Given the description of an element on the screen output the (x, y) to click on. 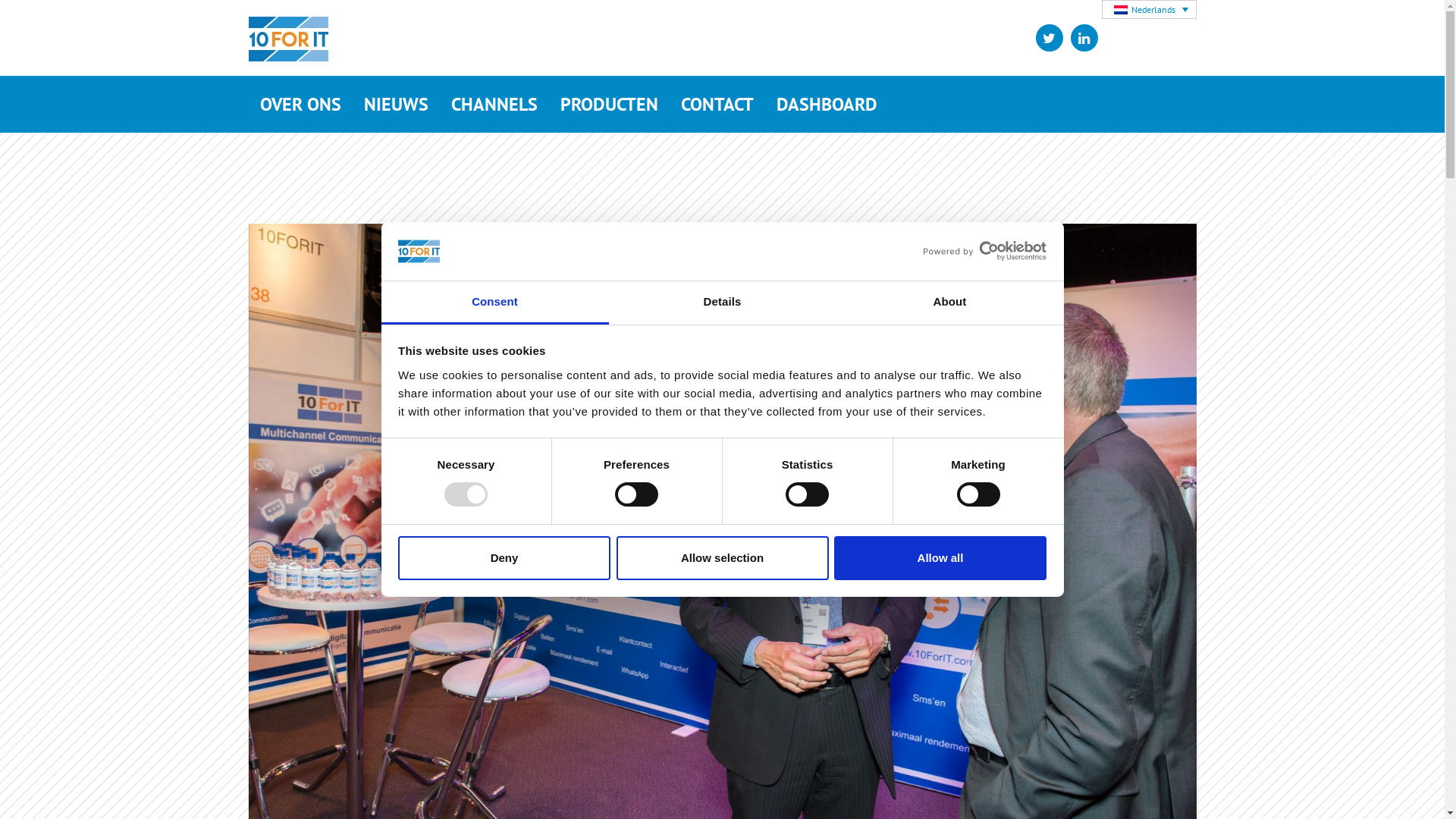
CONTACT Element type: text (716, 103)
CHANNELS Element type: text (494, 103)
Nederlands Element type: text (1148, 9)
NIEUWS Element type: text (395, 103)
Deny Element type: text (504, 558)
Allow selection Element type: text (721, 558)
Details Element type: text (721, 302)
OVER ONS Element type: text (300, 103)
Consent Element type: text (494, 302)
DASHBOARD Element type: text (826, 103)
Allow all Element type: text (940, 558)
PRODUCTEN Element type: text (609, 103)
About Element type: text (949, 302)
